Given the description of an element on the screen output the (x, y) to click on. 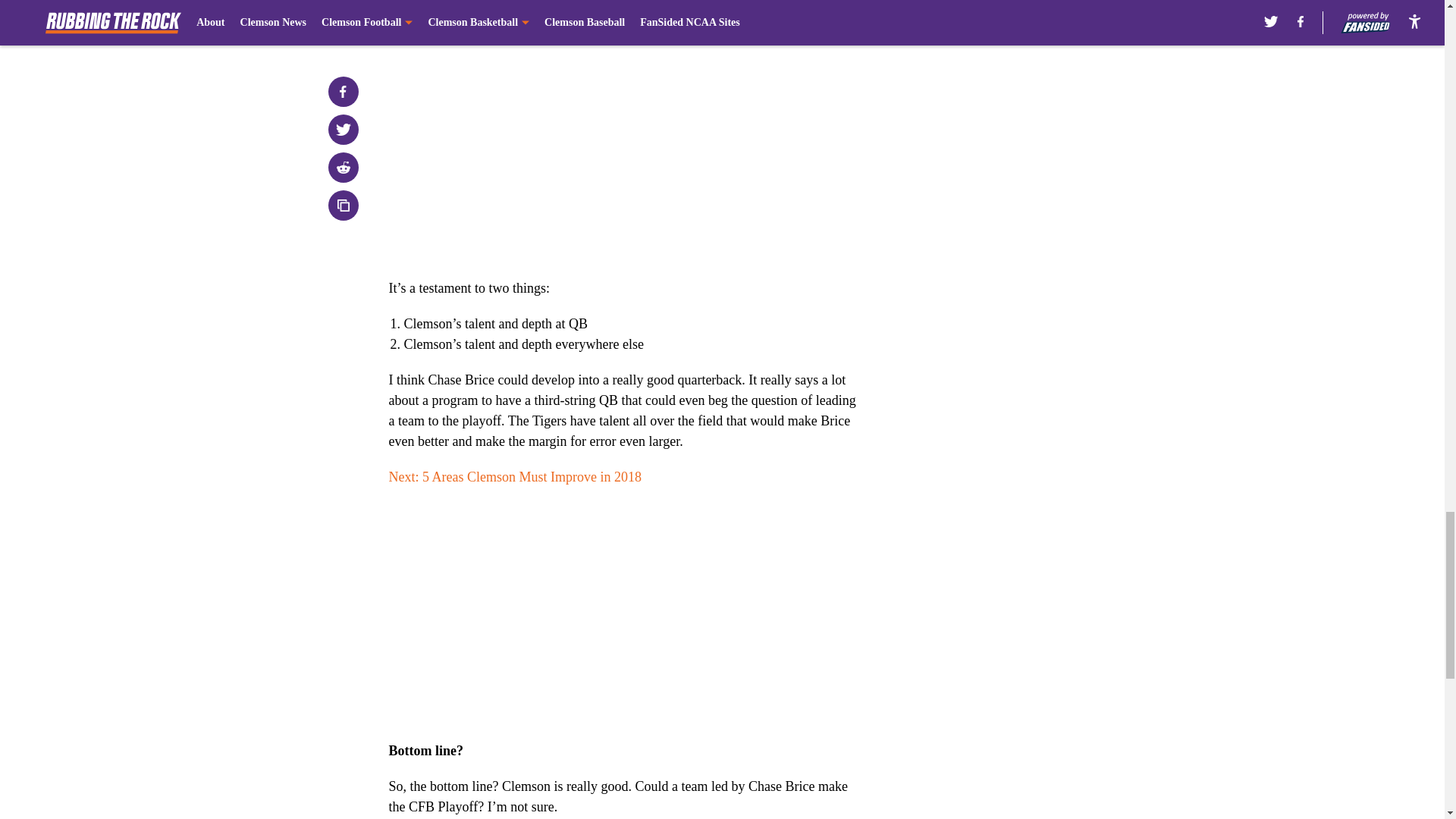
Next: 5 Areas Clemson Must Improve in 2018 (514, 476)
